Given the description of an element on the screen output the (x, y) to click on. 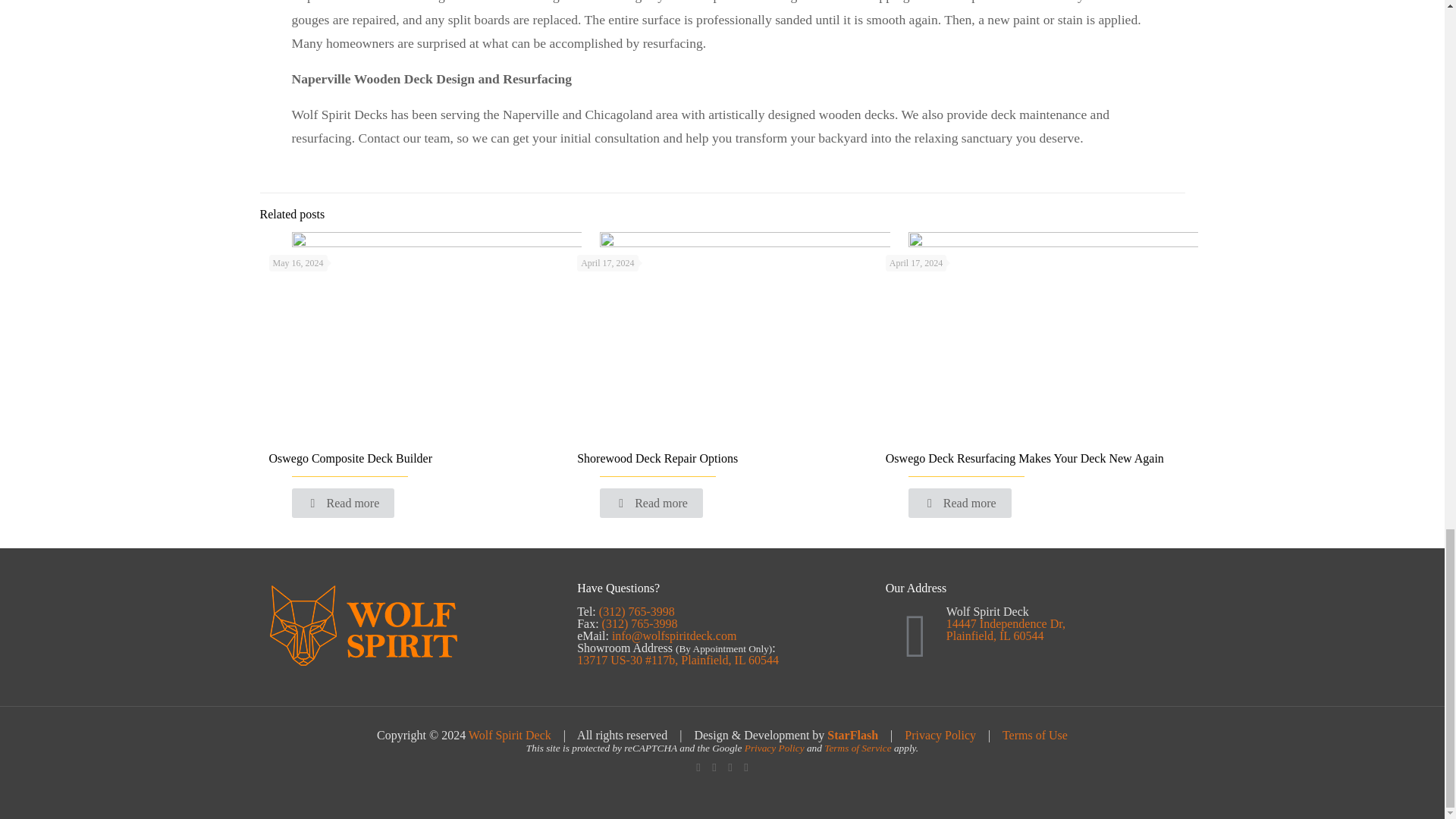
Pinterest (730, 767)
Facebook (698, 767)
Email (745, 767)
LinkedIn (713, 767)
